Given the description of an element on the screen output the (x, y) to click on. 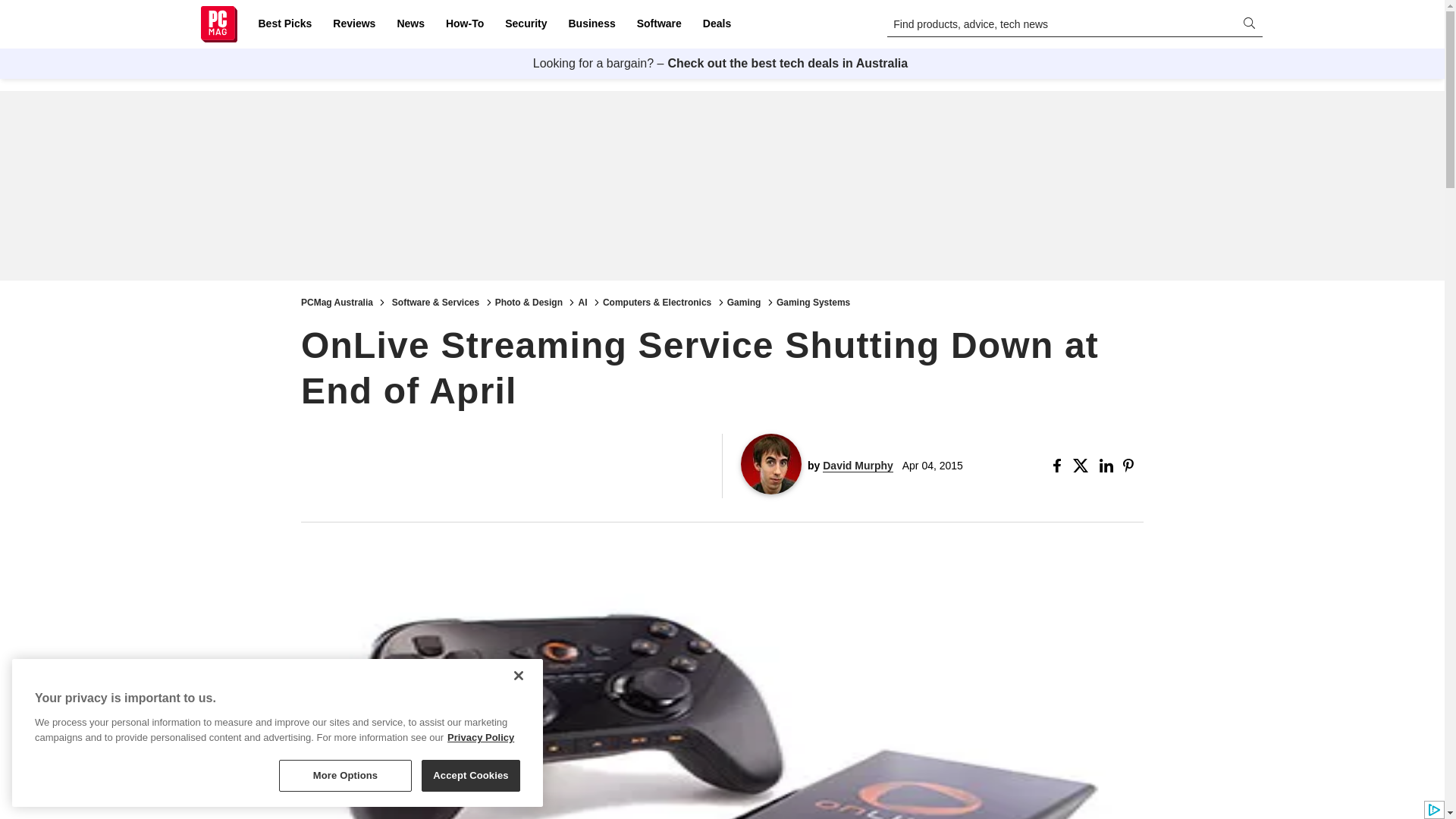
Share this Story on Linkedin (1107, 465)
Security (526, 24)
Share this Story on X (1083, 465)
Share this Story on Facebook (1059, 465)
Business (591, 24)
How-To (464, 24)
Share this Story on Pinterest (1132, 465)
Best Picks (284, 24)
Reviews (353, 24)
